Given the description of an element on the screen output the (x, y) to click on. 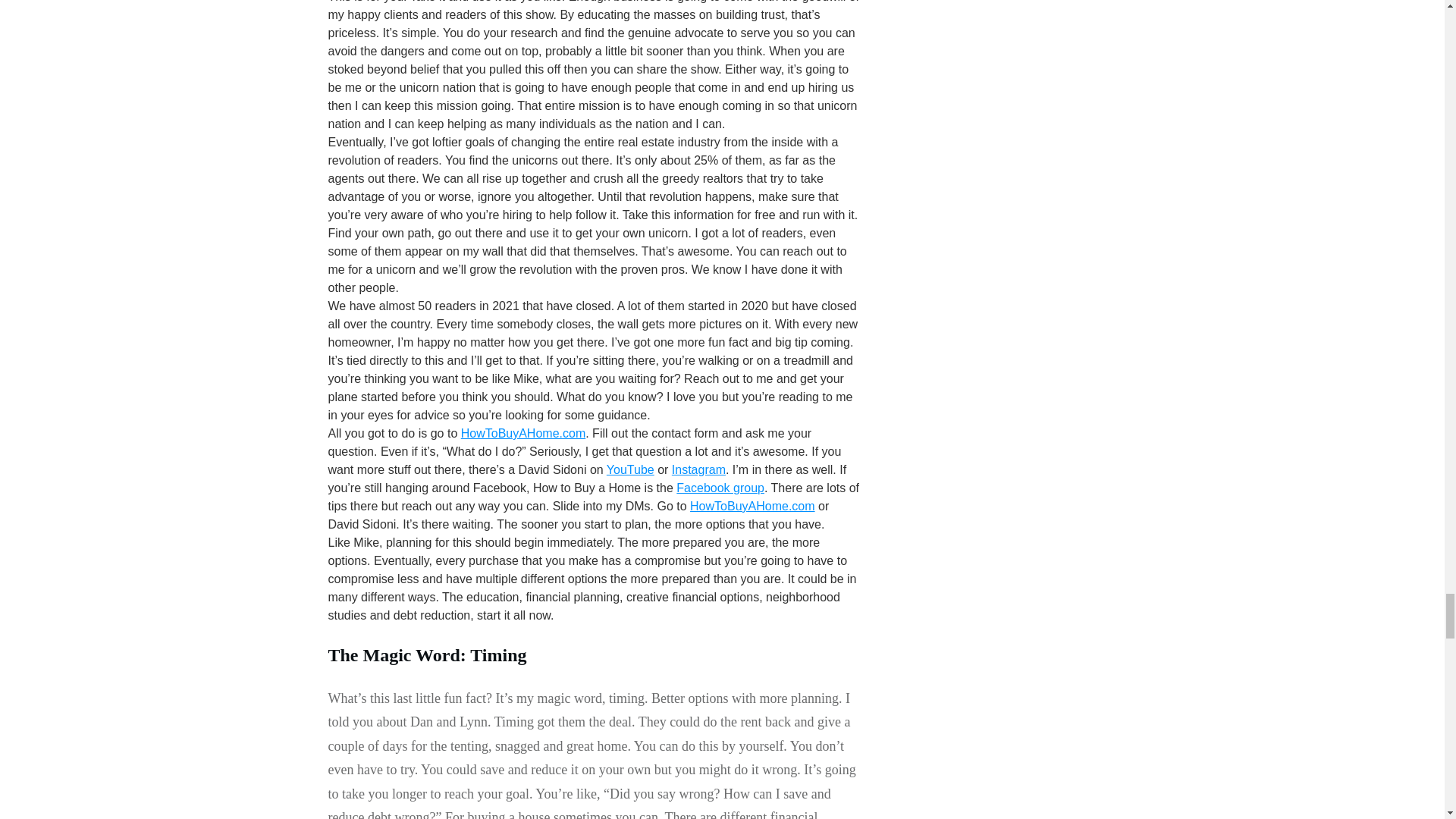
YouTube (630, 469)
Facebook group (720, 487)
HowToBuyAHome.com (752, 505)
HowToBuyAHome.com (523, 432)
Instagram (698, 469)
